Given the description of an element on the screen output the (x, y) to click on. 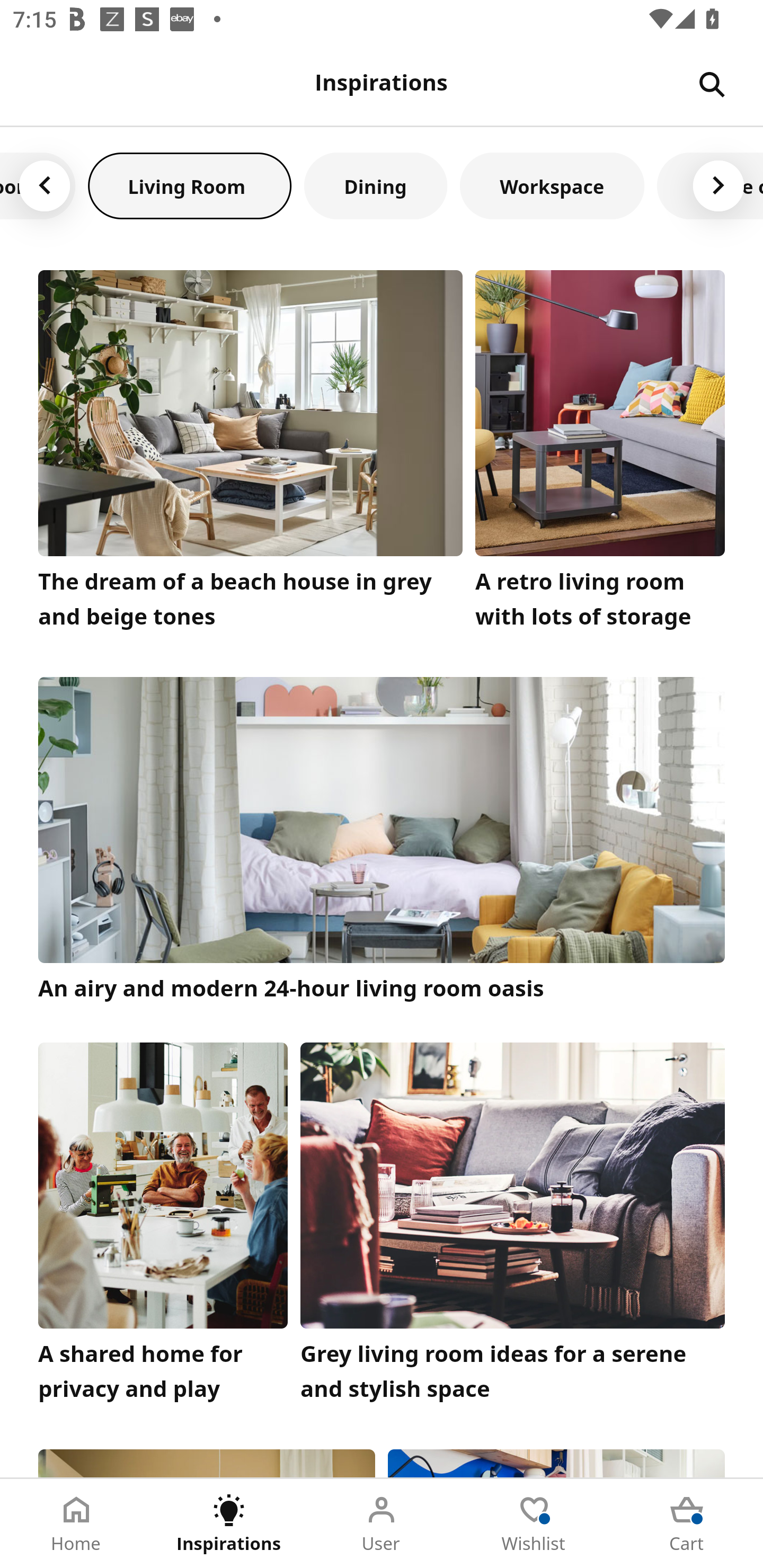
Living Room  (189, 185)
Dining (375, 185)
Workspace (551, 185)
The dream of a beach house in grey and beige tones (250, 453)
A retro living room with lots of storage (599, 453)
An airy and modern 24-hour living room oasis (381, 841)
A shared home for privacy and play (162, 1226)
Home
Tab 1 of 5 (76, 1522)
Inspirations
Tab 2 of 5 (228, 1522)
User
Tab 3 of 5 (381, 1522)
Wishlist
Tab 4 of 5 (533, 1522)
Cart
Tab 5 of 5 (686, 1522)
